Given the description of an element on the screen output the (x, y) to click on. 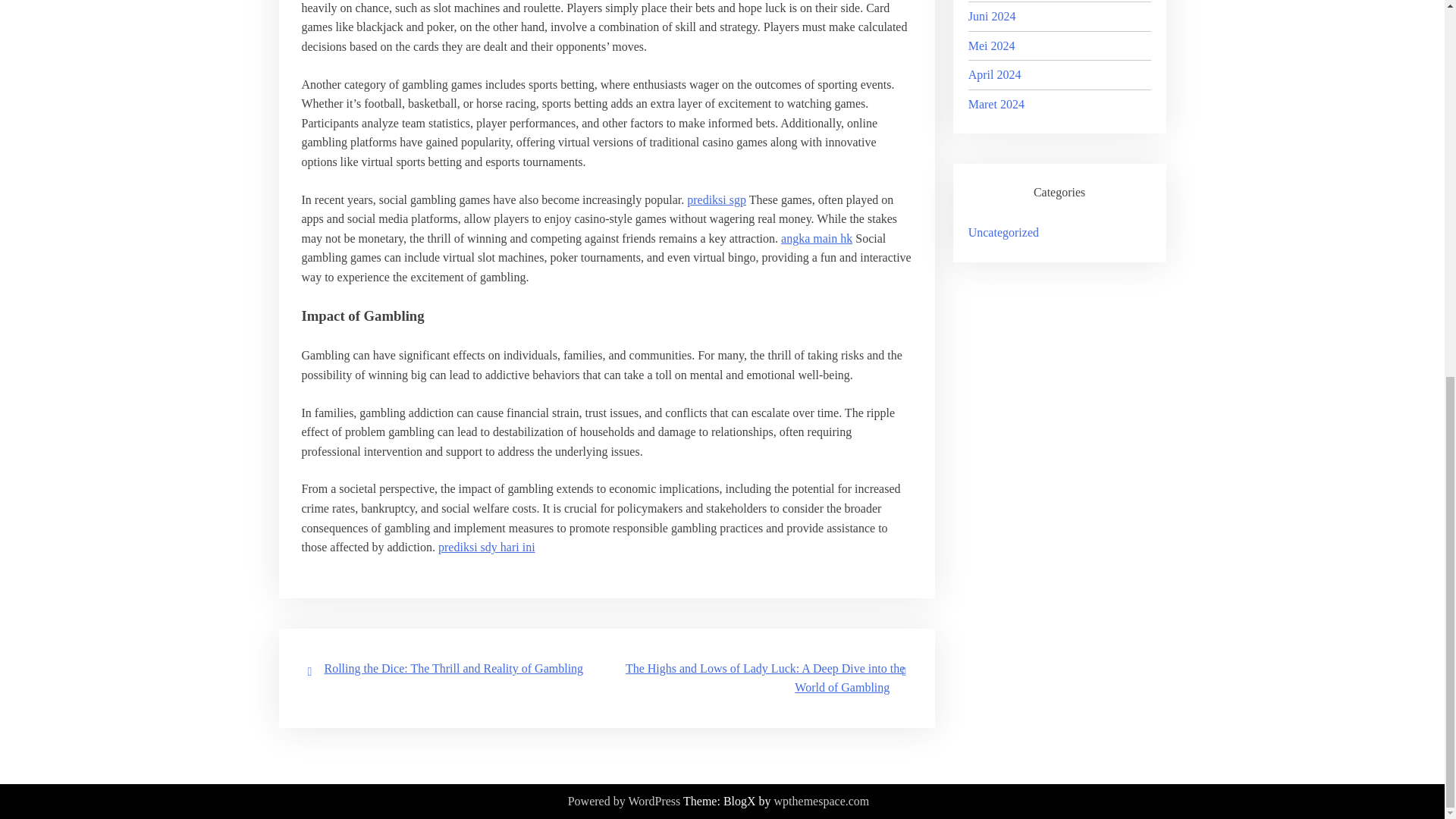
angka main hk (815, 237)
prediksi sdy hari ini (486, 546)
Maret 2024 (996, 103)
April 2024 (995, 74)
wpthemespace.com (821, 801)
Juni 2024 (992, 15)
Powered by WordPress (624, 801)
prediksi sgp (716, 199)
Uncategorized (1003, 232)
